Given the description of an element on the screen output the (x, y) to click on. 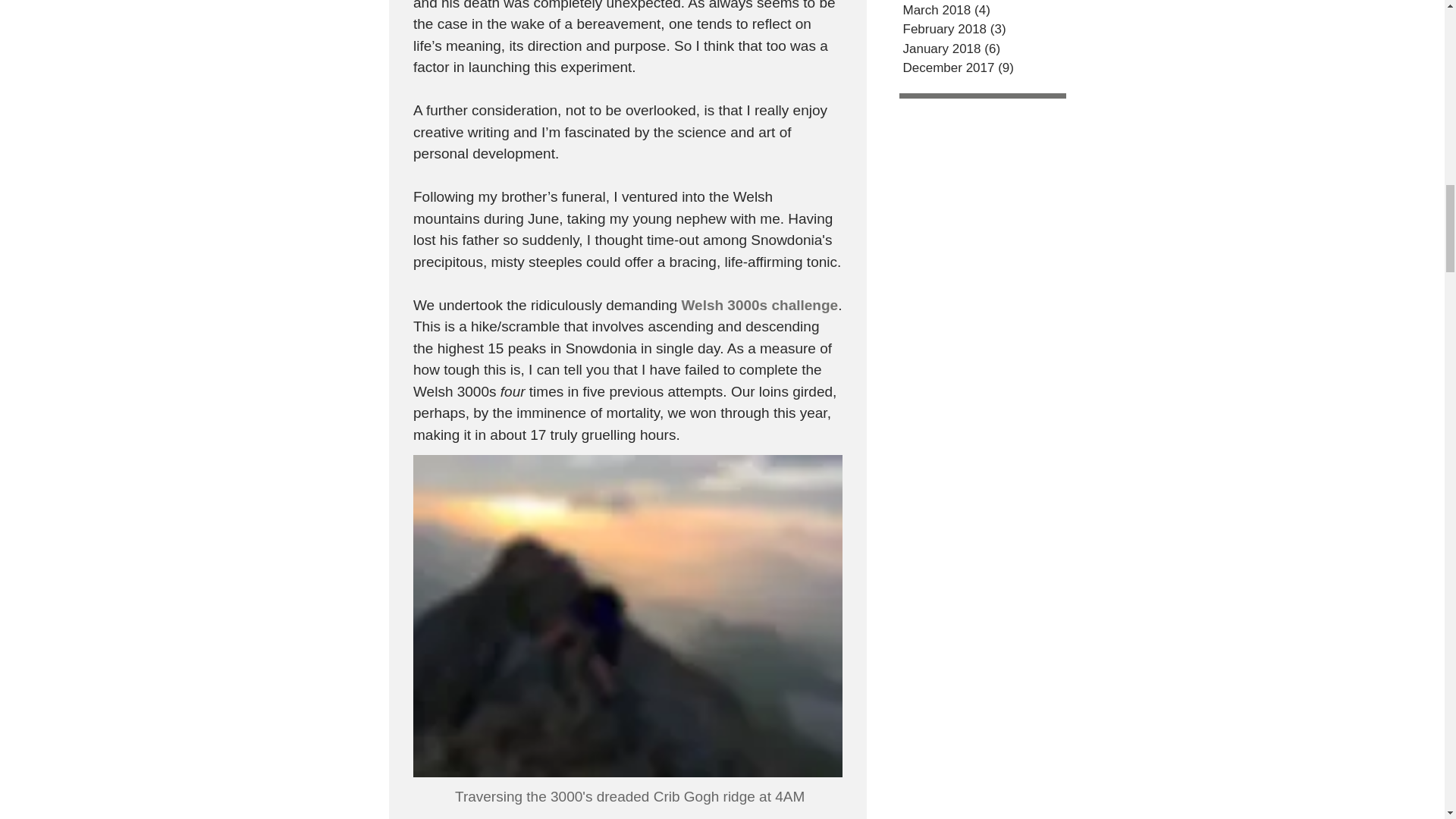
Welsh 3000s challenge (759, 304)
